Given the description of an element on the screen output the (x, y) to click on. 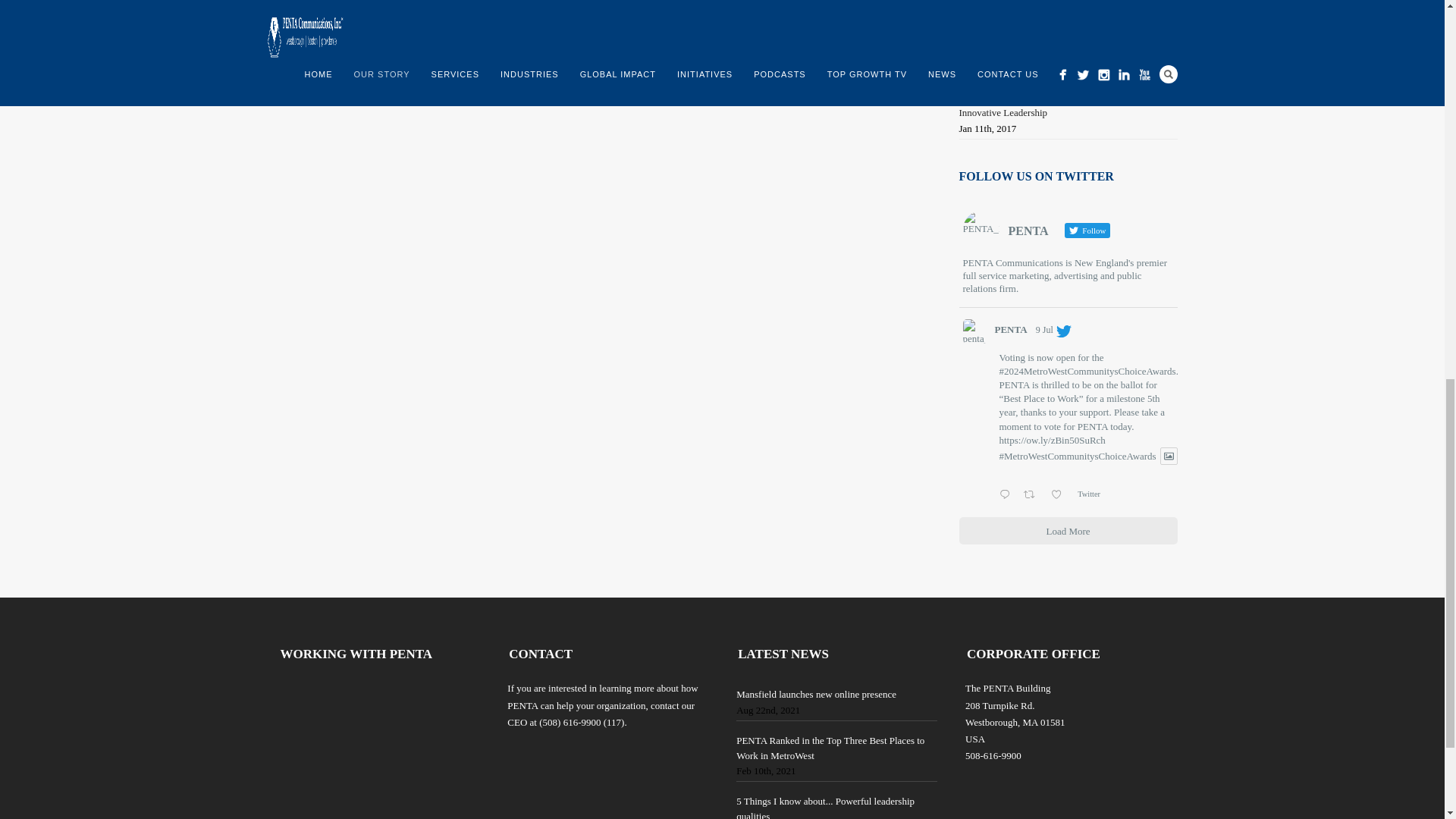
YouTube video player (392, 736)
